Given the description of an element on the screen output the (x, y) to click on. 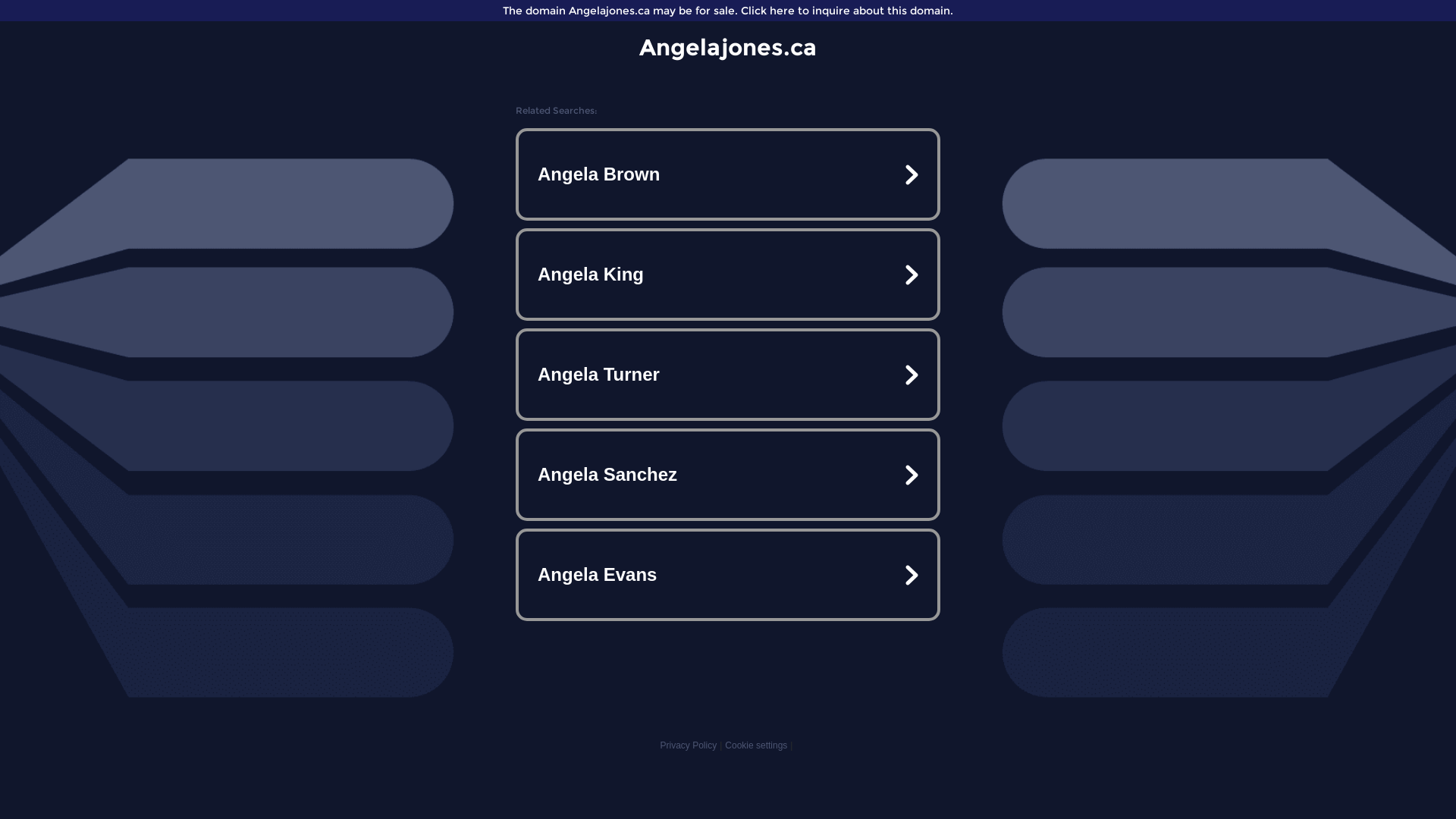
Cookie settings Element type: text (755, 745)
Angela Brown Element type: text (727, 174)
Angelajones.ca Element type: text (727, 47)
Privacy Policy Element type: text (687, 745)
Angela Sanchez Element type: text (727, 474)
Angela Turner Element type: text (727, 374)
Angela Evans Element type: text (727, 574)
Angela King Element type: text (727, 274)
